Given the description of an element on the screen output the (x, y) to click on. 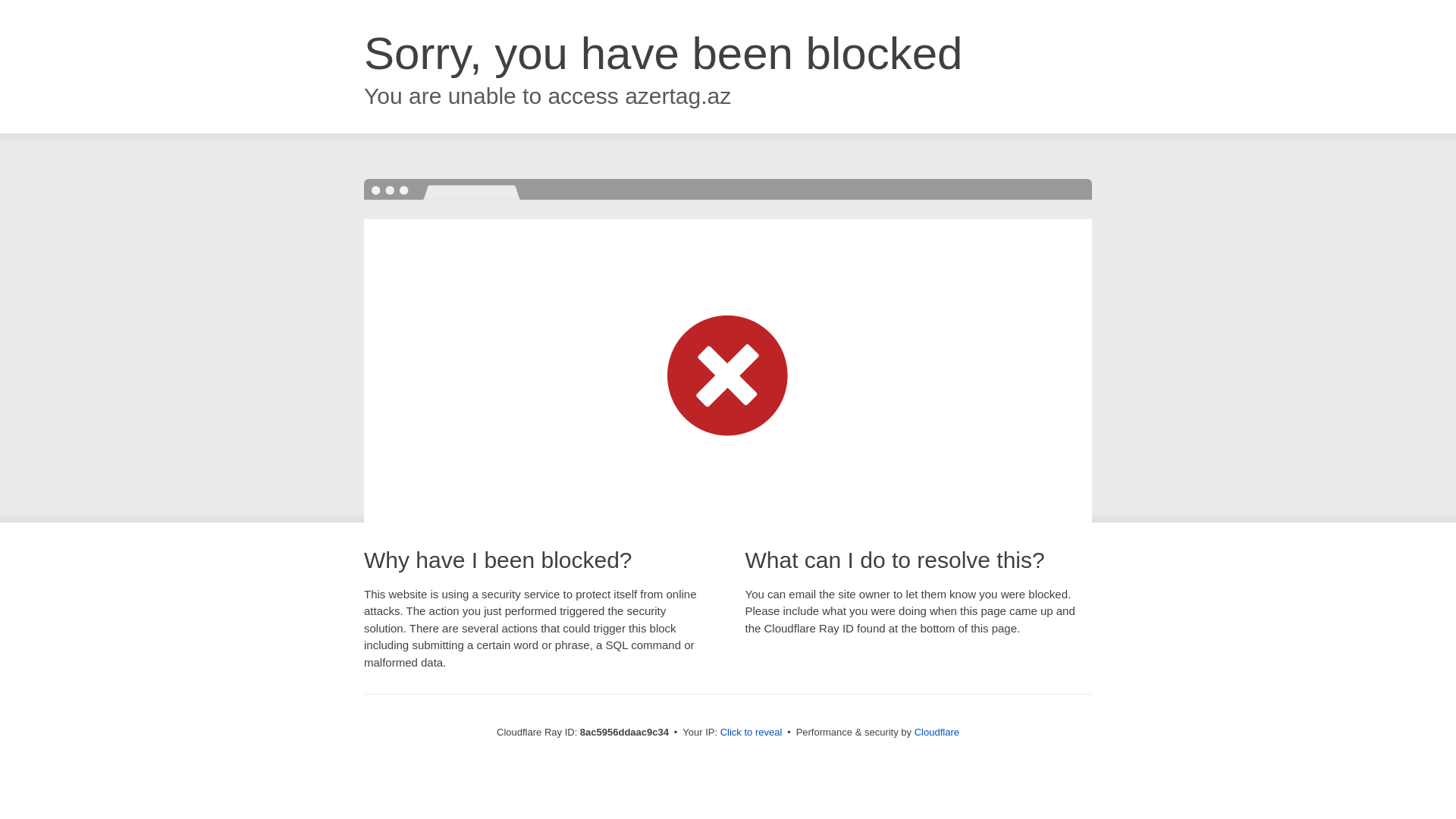
Click to reveal (751, 732)
Cloudflare (936, 731)
